Given the description of an element on the screen output the (x, y) to click on. 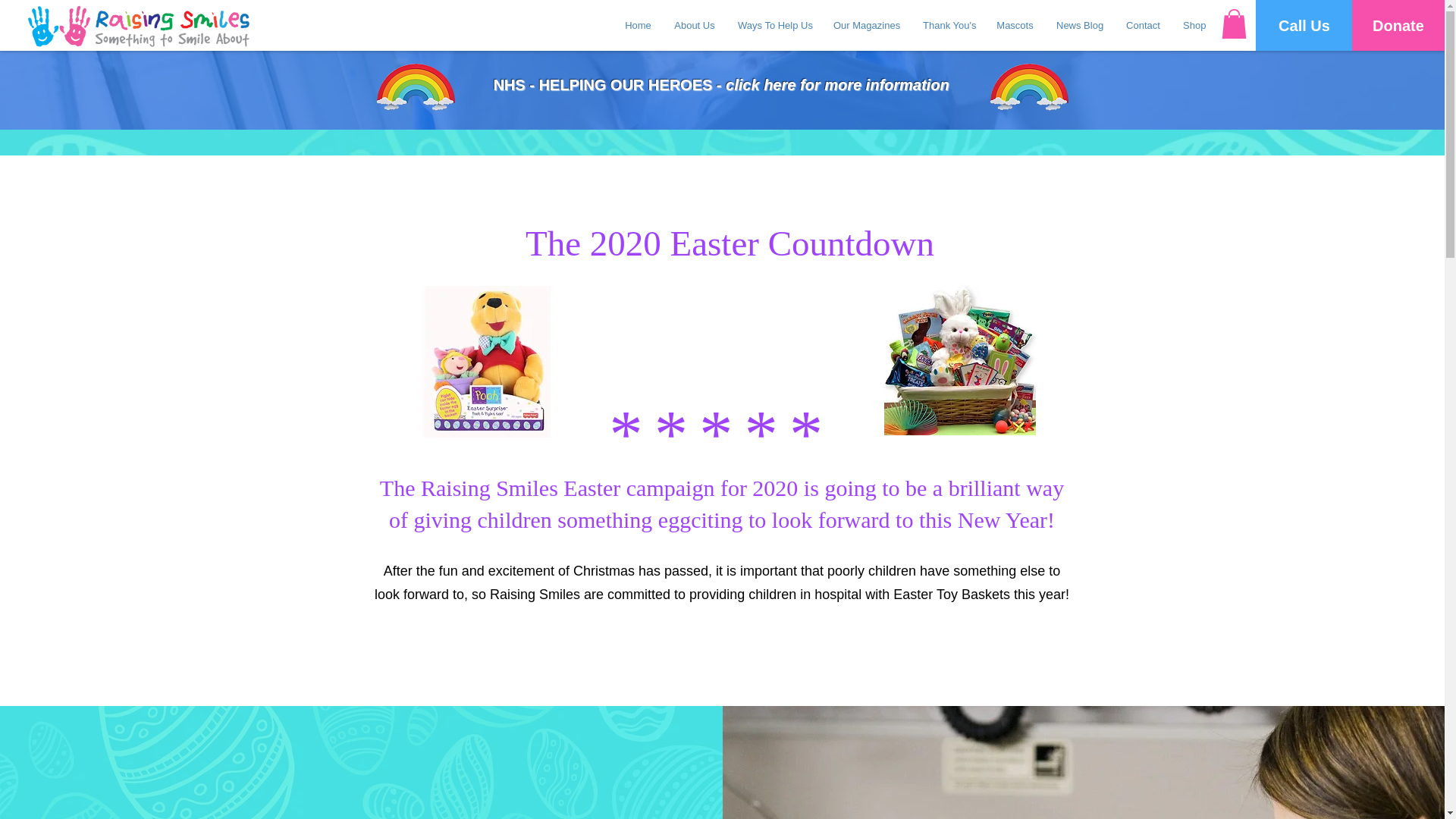
Thank You's (948, 25)
- click here for more information (830, 84)
Call Us (1303, 25)
Mascots (1015, 25)
Home (637, 25)
About Us (694, 25)
Our Magazines (866, 25)
Shop (1194, 25)
Contact (1143, 25)
News Blog (1080, 25)
Ways To Help Us (774, 25)
